Given the description of an element on the screen output the (x, y) to click on. 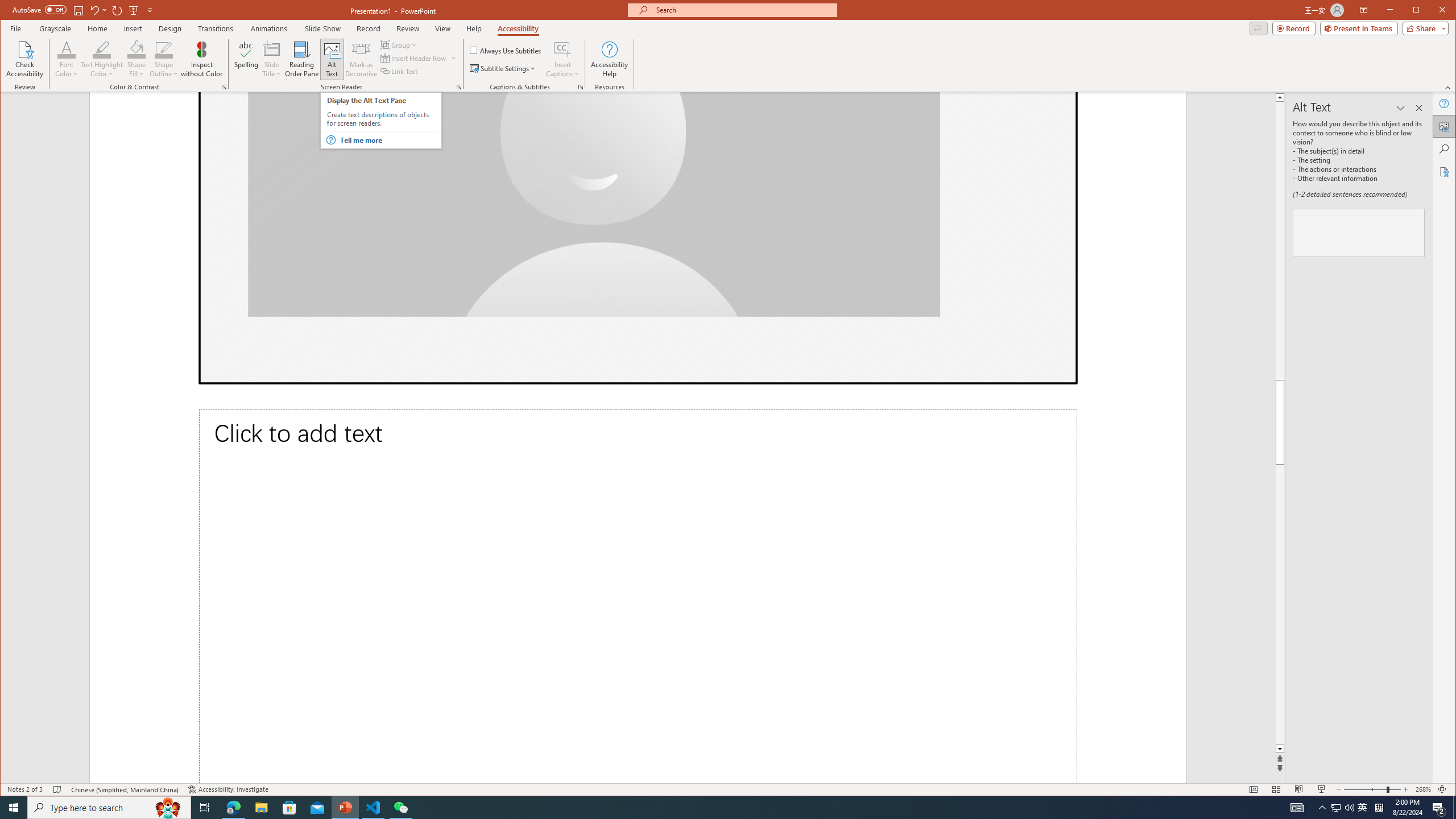
Mark as Decorative (360, 59)
Screen Reader (458, 86)
